Given the description of an element on the screen output the (x, y) to click on. 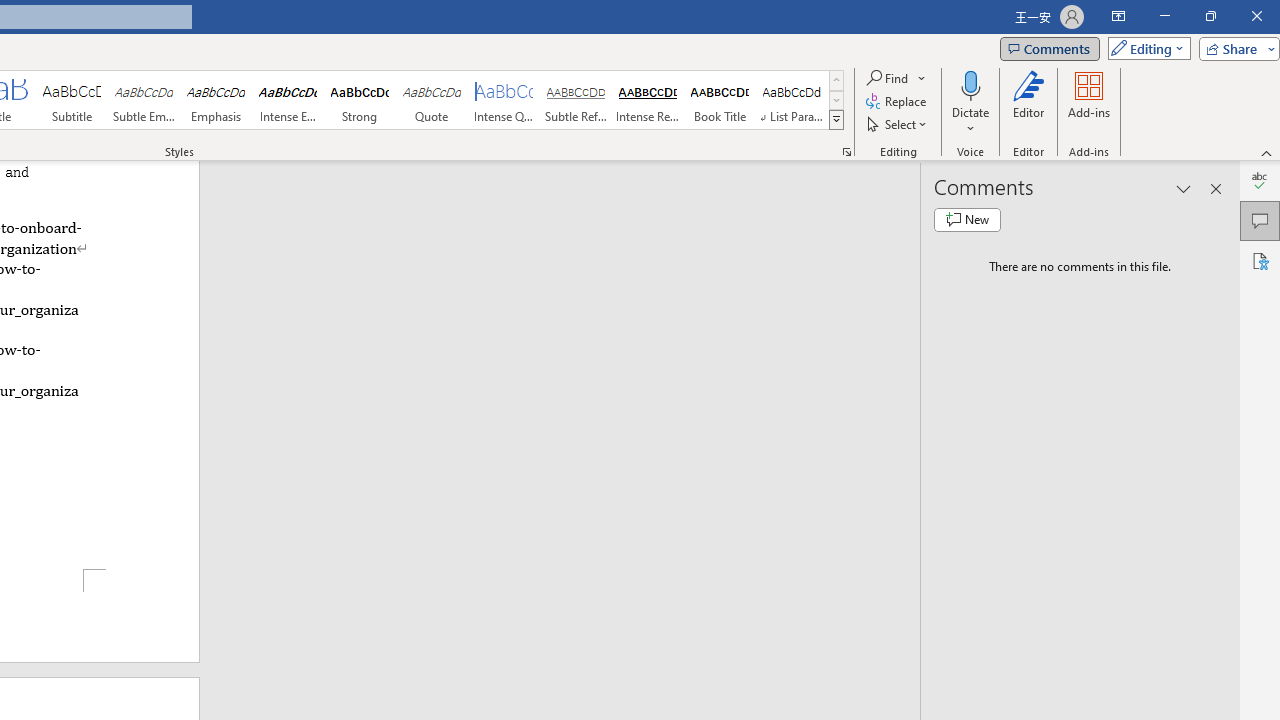
Select (898, 124)
Replace... (897, 101)
Intense Reference (647, 100)
Subtle Reference (575, 100)
Book Title (719, 100)
Styles (836, 120)
Intense Emphasis (287, 100)
Editing (1144, 47)
